Given the description of an element on the screen output the (x, y) to click on. 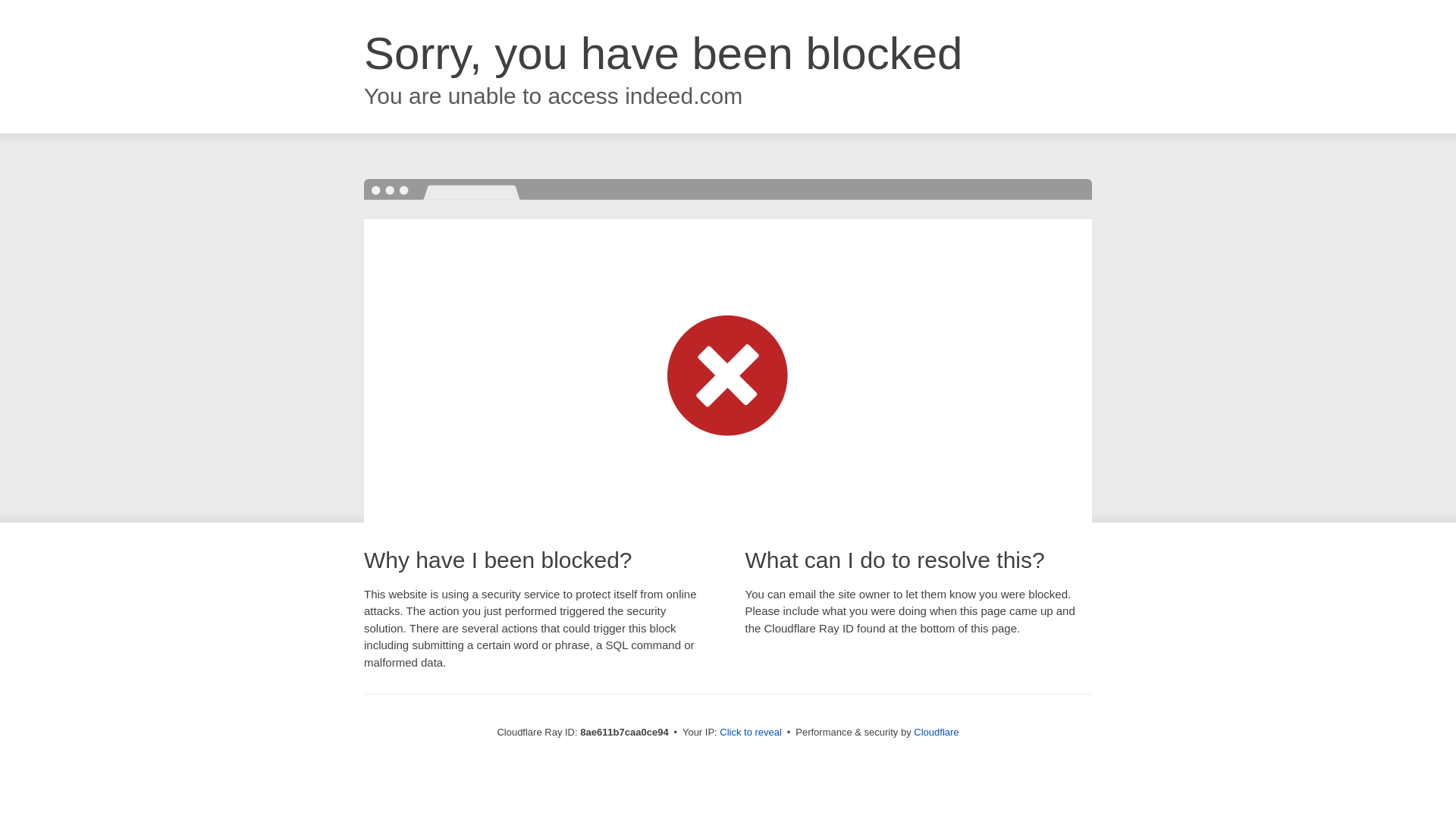
Cloudflare (936, 731)
Click to reveal (750, 732)
